Given the description of an element on the screen output the (x, y) to click on. 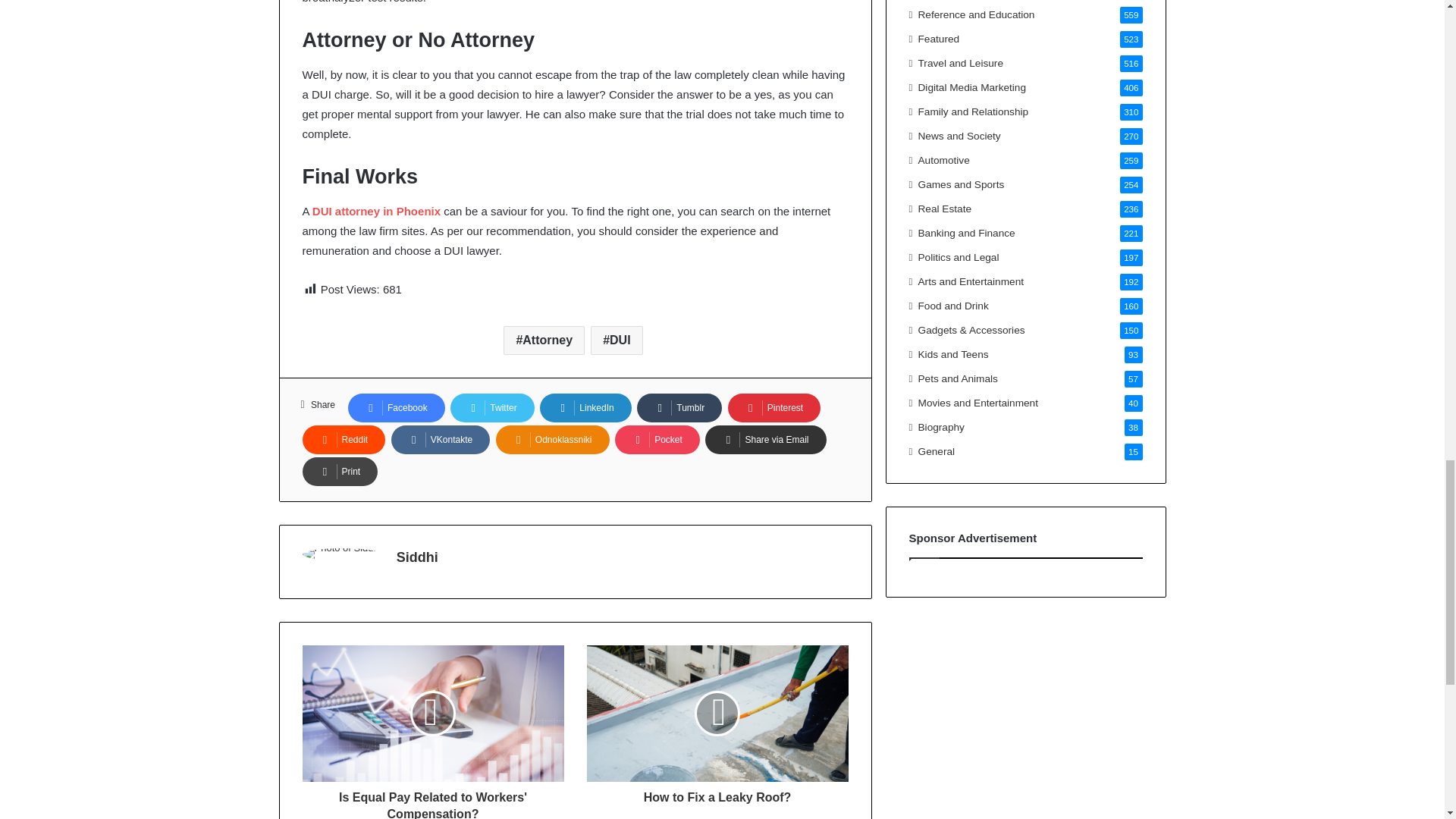
LinkedIn (585, 407)
Reddit (343, 439)
Tumblr (679, 407)
VKontakte (440, 439)
Facebook (396, 407)
Pinterest (774, 407)
Twitter (491, 407)
